Given the description of an element on the screen output the (x, y) to click on. 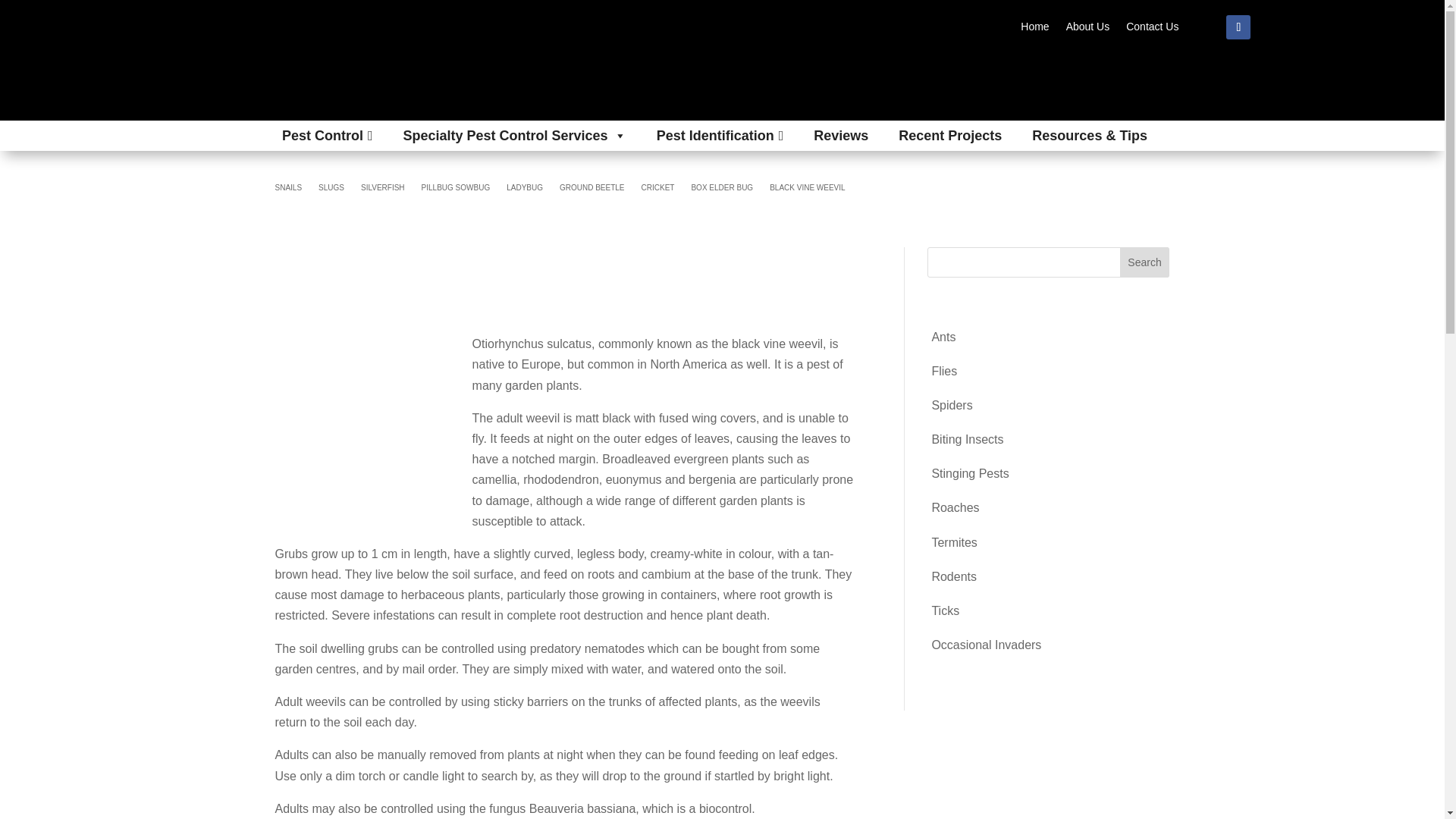
Reviews (841, 135)
Contact Us (1151, 29)
SLUGS (330, 190)
SILVERFISH (382, 190)
GROUND BEETLE (591, 190)
PILLBUG SOWBUG (456, 190)
SNAILS (288, 190)
Search (1144, 262)
Recent Projects (950, 135)
LADYBUG (524, 190)
Home (1034, 29)
CRICKET (658, 190)
Follow on Facebook (1237, 27)
About Us (1087, 29)
Specialty Pest Control Services (514, 135)
